Given the description of an element on the screen output the (x, y) to click on. 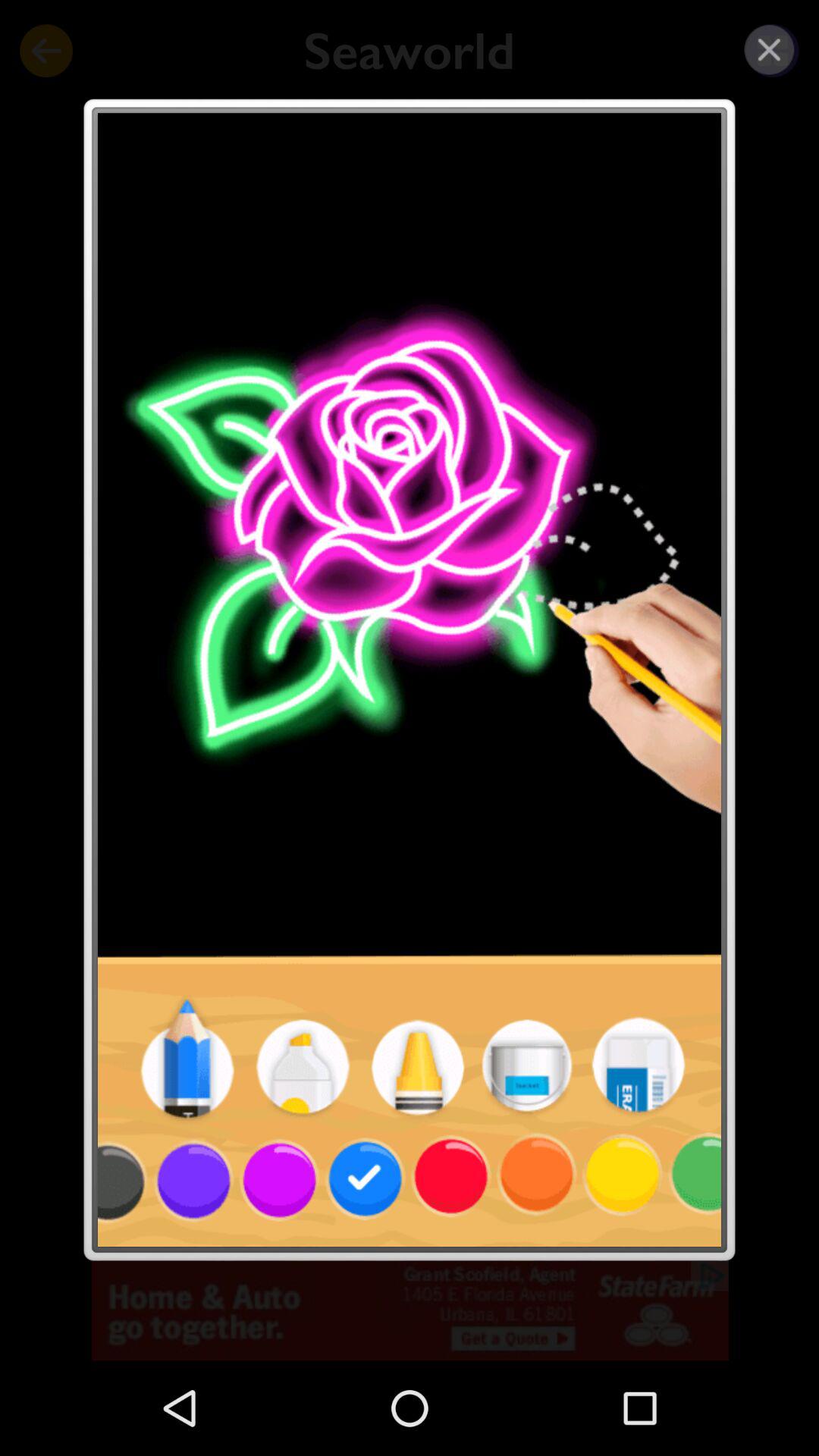
close (769, 49)
